Given the description of an element on the screen output the (x, y) to click on. 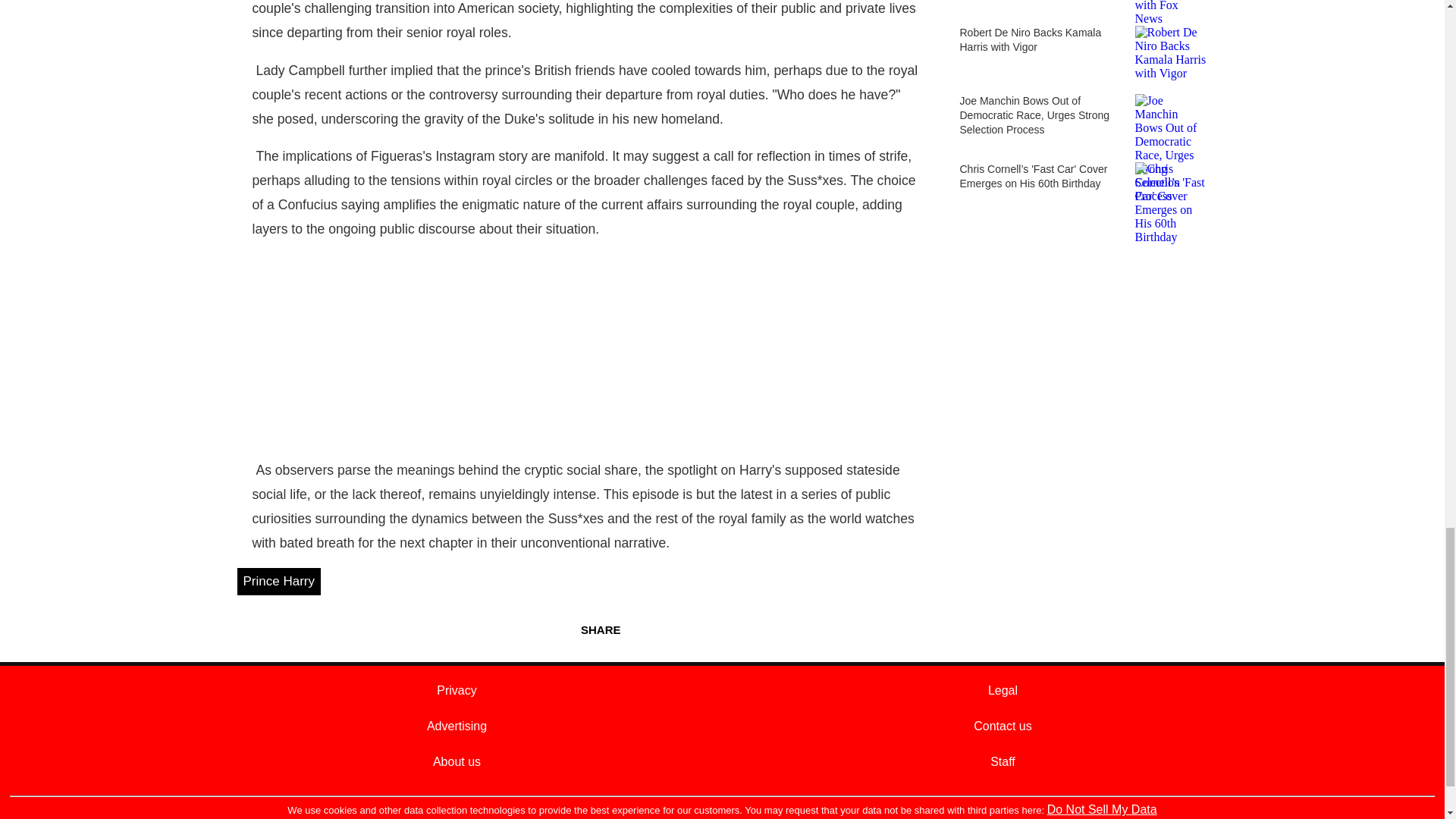
Prince Harry (277, 581)
